Given the description of an element on the screen output the (x, y) to click on. 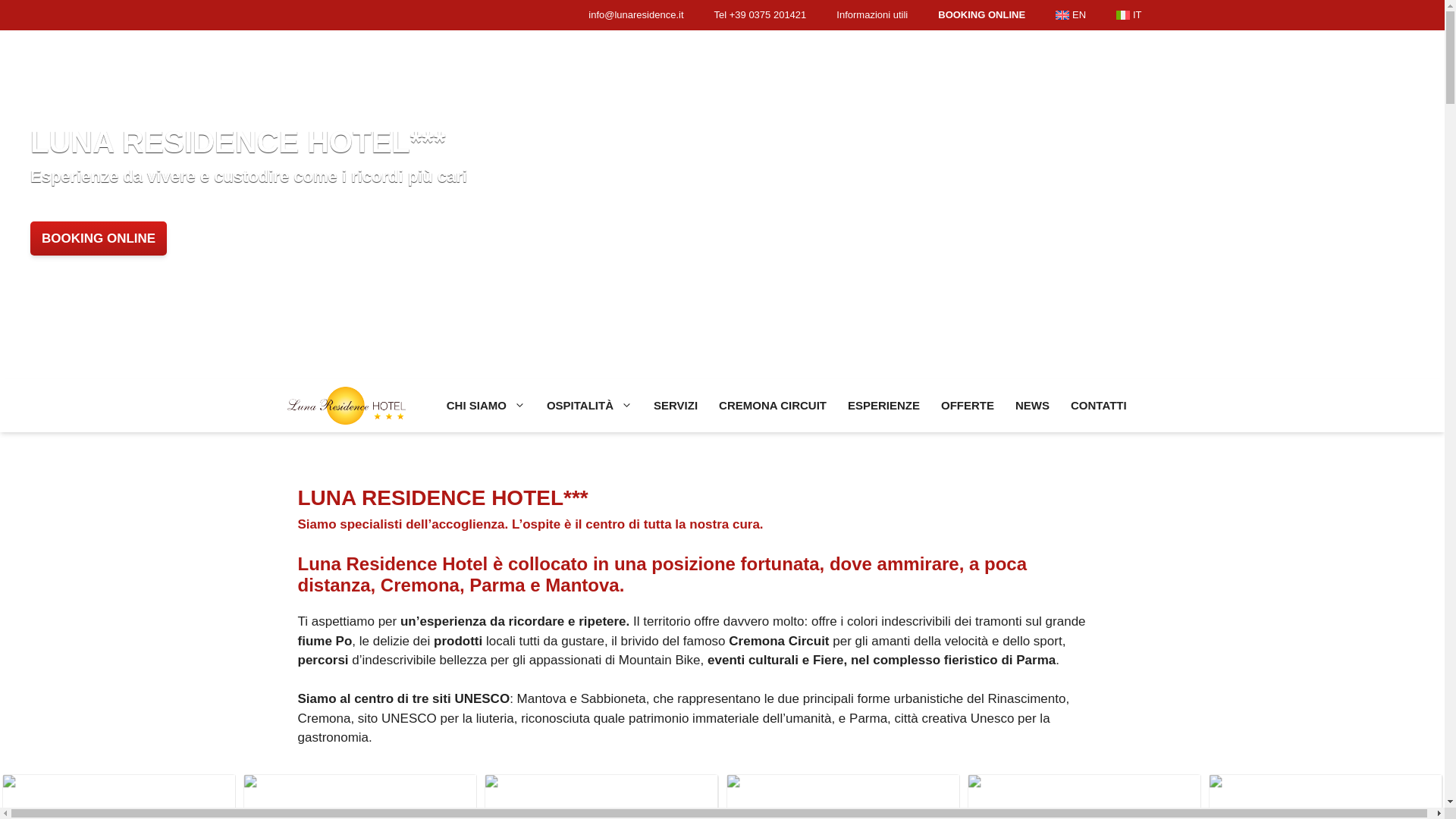
CHI SIAMO (485, 405)
BOOKING ONLINE (98, 238)
IT (1128, 15)
CONTATTI (1098, 405)
Informazioni utili (872, 15)
Luna Residence Hotel (357, 405)
IT (1128, 15)
SERVIZI (675, 405)
EN (1070, 15)
Luna Residence Hotel (345, 405)
